Given the description of an element on the screen output the (x, y) to click on. 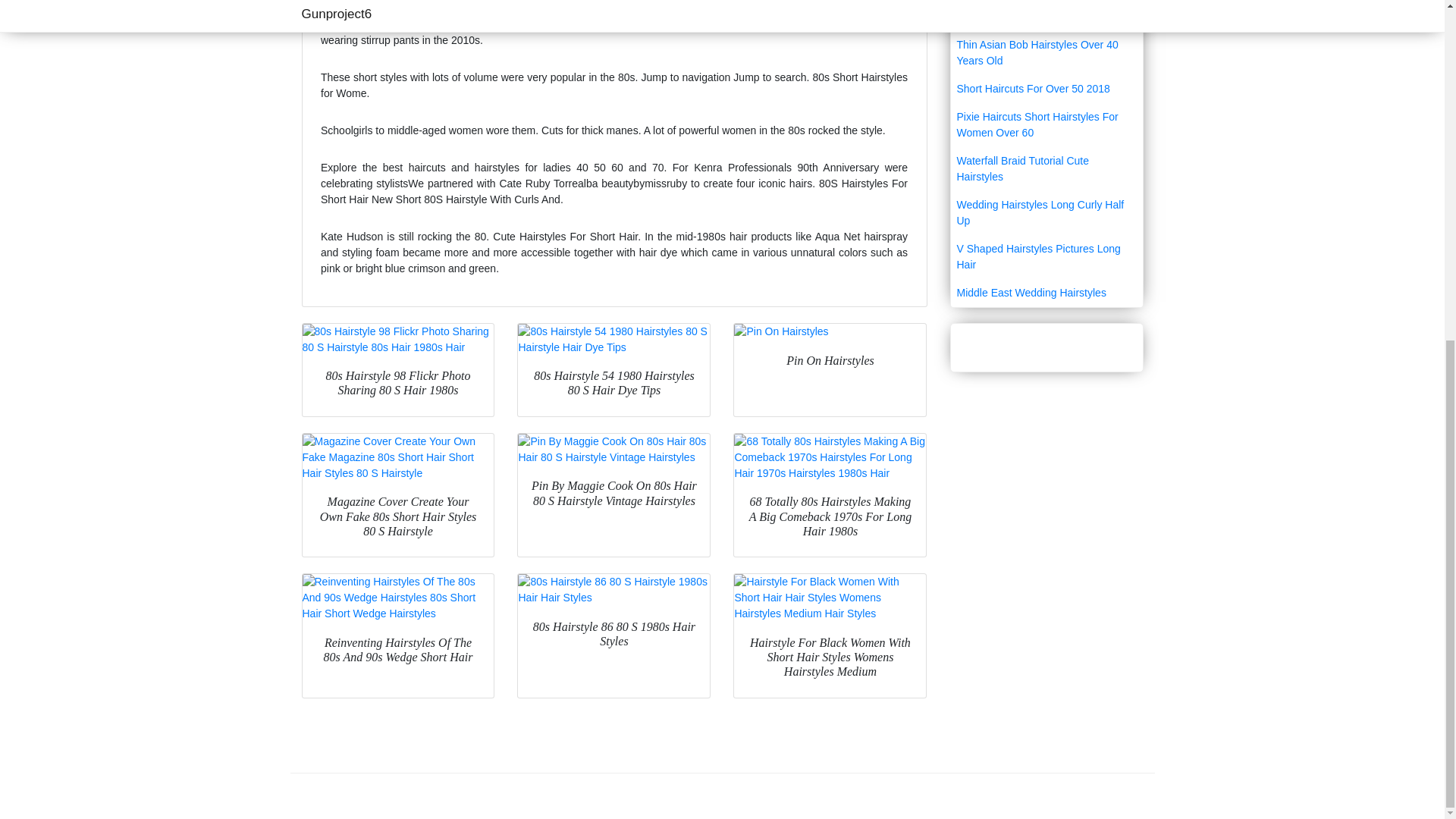
Mens Hairstyles 1986 (1046, 17)
Thin Asian Bob Hairstyles Over 40 Years Old (1046, 53)
Naturally Curly Short Blonde Hairstyles (1046, 1)
